Given the description of an element on the screen output the (x, y) to click on. 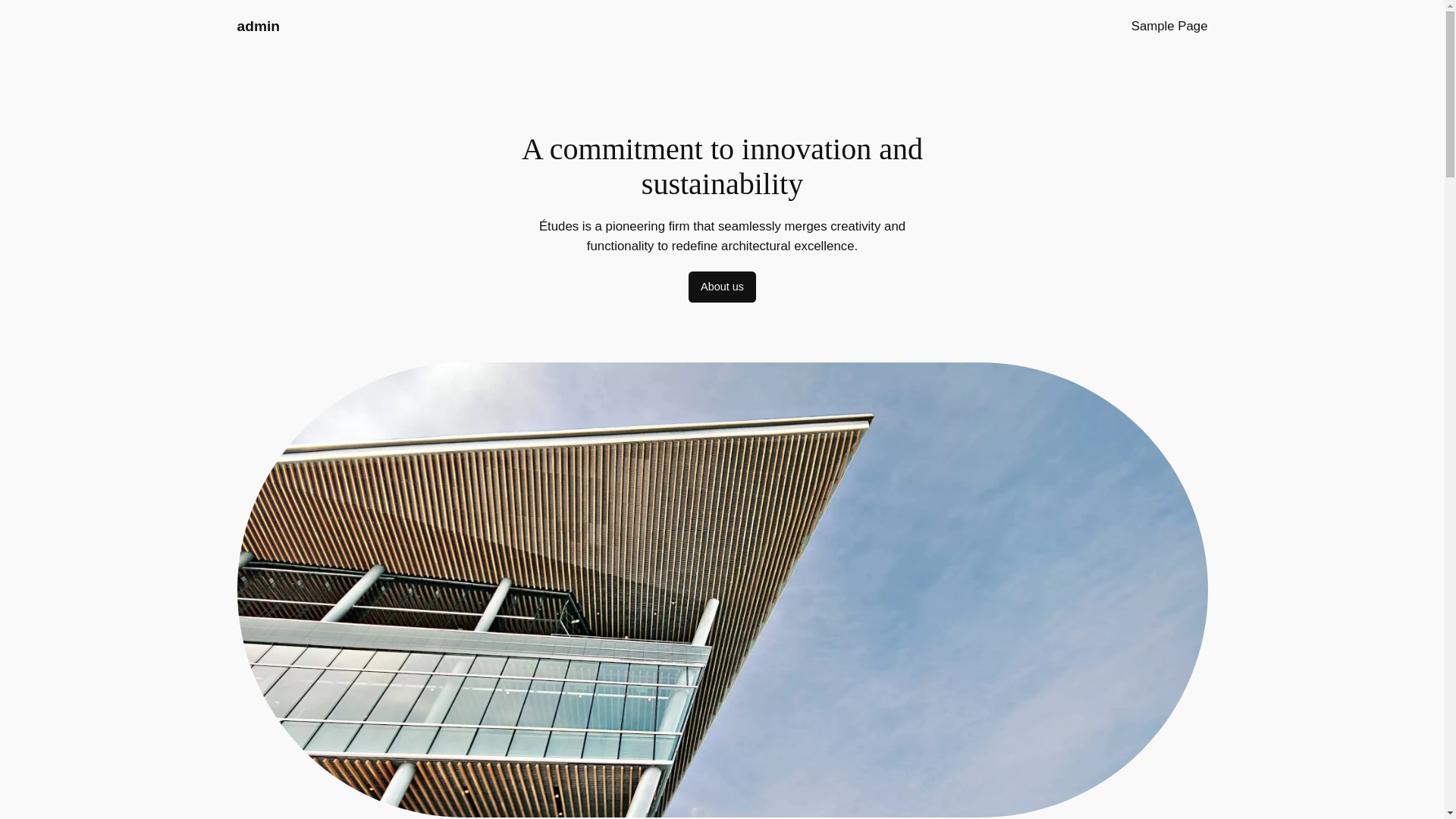
Sample Page (1169, 26)
admin (257, 26)
About us (721, 287)
